Given the description of an element on the screen output the (x, y) to click on. 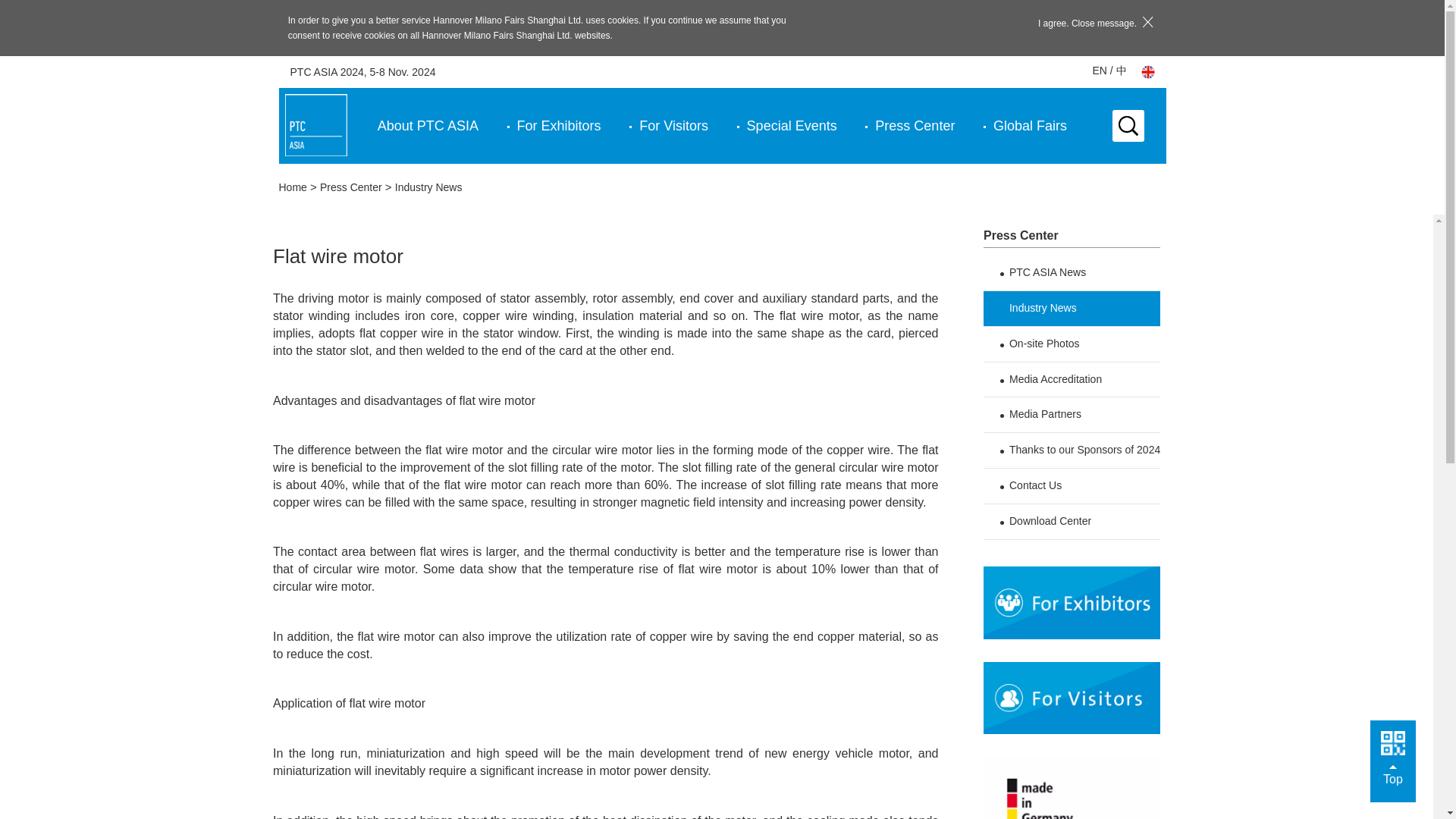
PTC ASIA 2024, 5-8 Nov. 2024 (362, 71)
About PTC ASIA (428, 125)
For Visitors (673, 125)
EN (1099, 70)
For Exhibitors (558, 125)
